Given the description of an element on the screen output the (x, y) to click on. 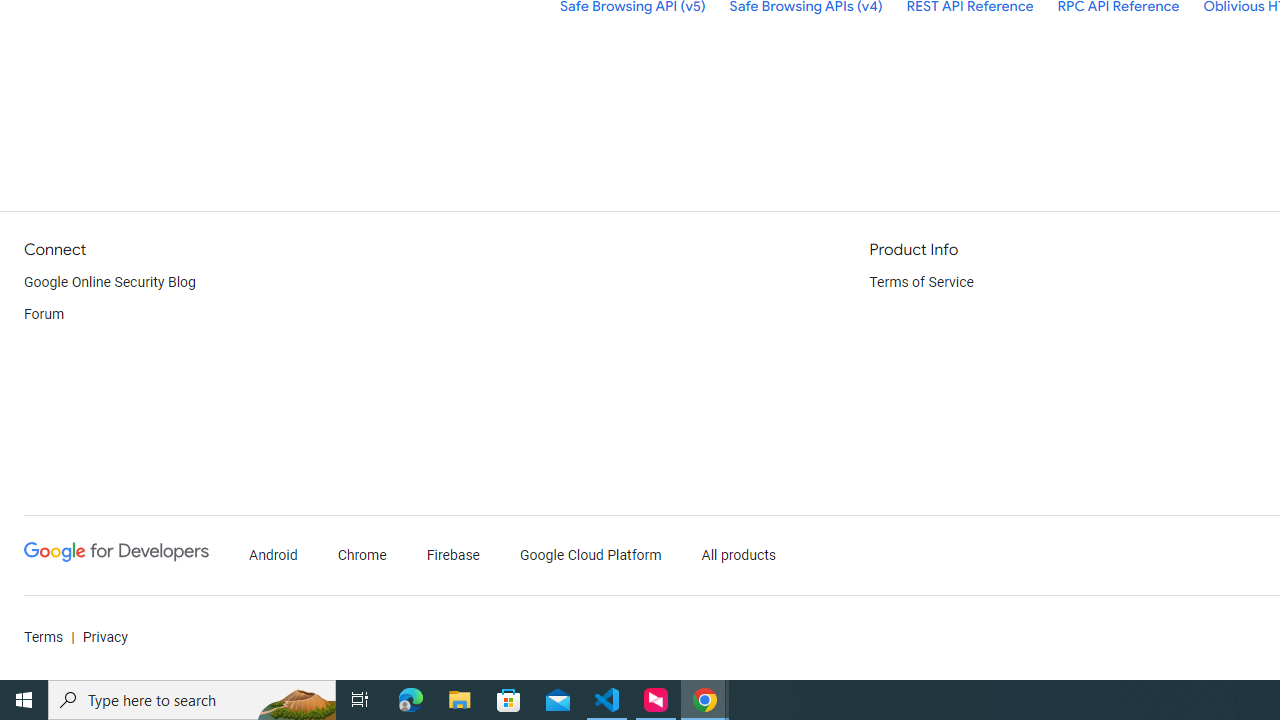
Forum (44, 314)
Google Online Security Blog (109, 282)
Google Cloud Platform (590, 555)
Google Developers (116, 551)
Android (273, 555)
Google Developers (116, 555)
Firebase (453, 555)
All products (738, 555)
